Given the description of an element on the screen output the (x, y) to click on. 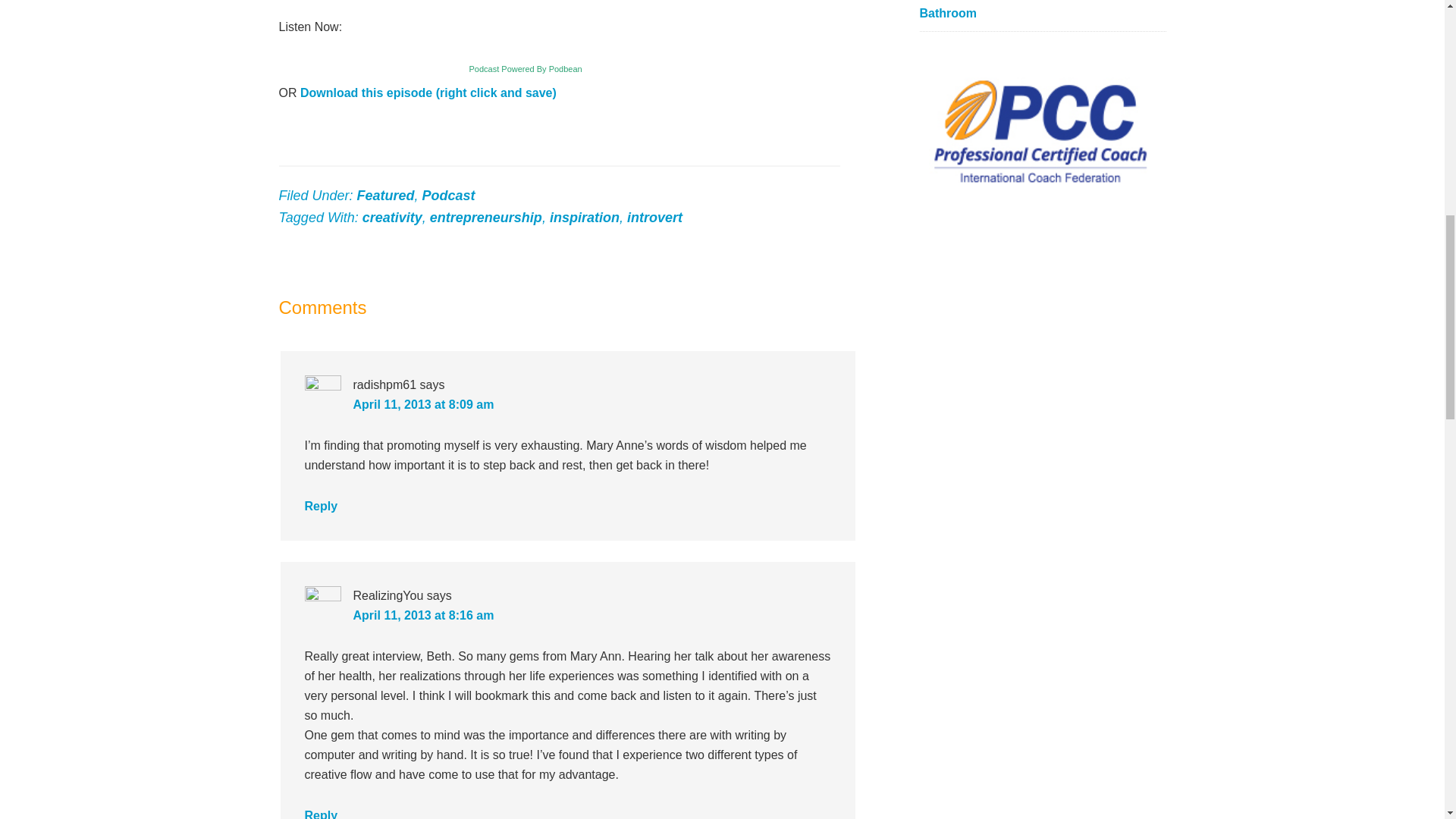
April 11, 2013 at 8:09 am (424, 404)
Podcast Powered By Podbean (510, 68)
Podcast (449, 195)
entrepreneurship (485, 217)
inspiration (585, 217)
Reply (320, 505)
Featured (385, 195)
Reply (320, 814)
April 11, 2013 at 8:16 am (424, 615)
introvert (654, 217)
